Given the description of an element on the screen output the (x, y) to click on. 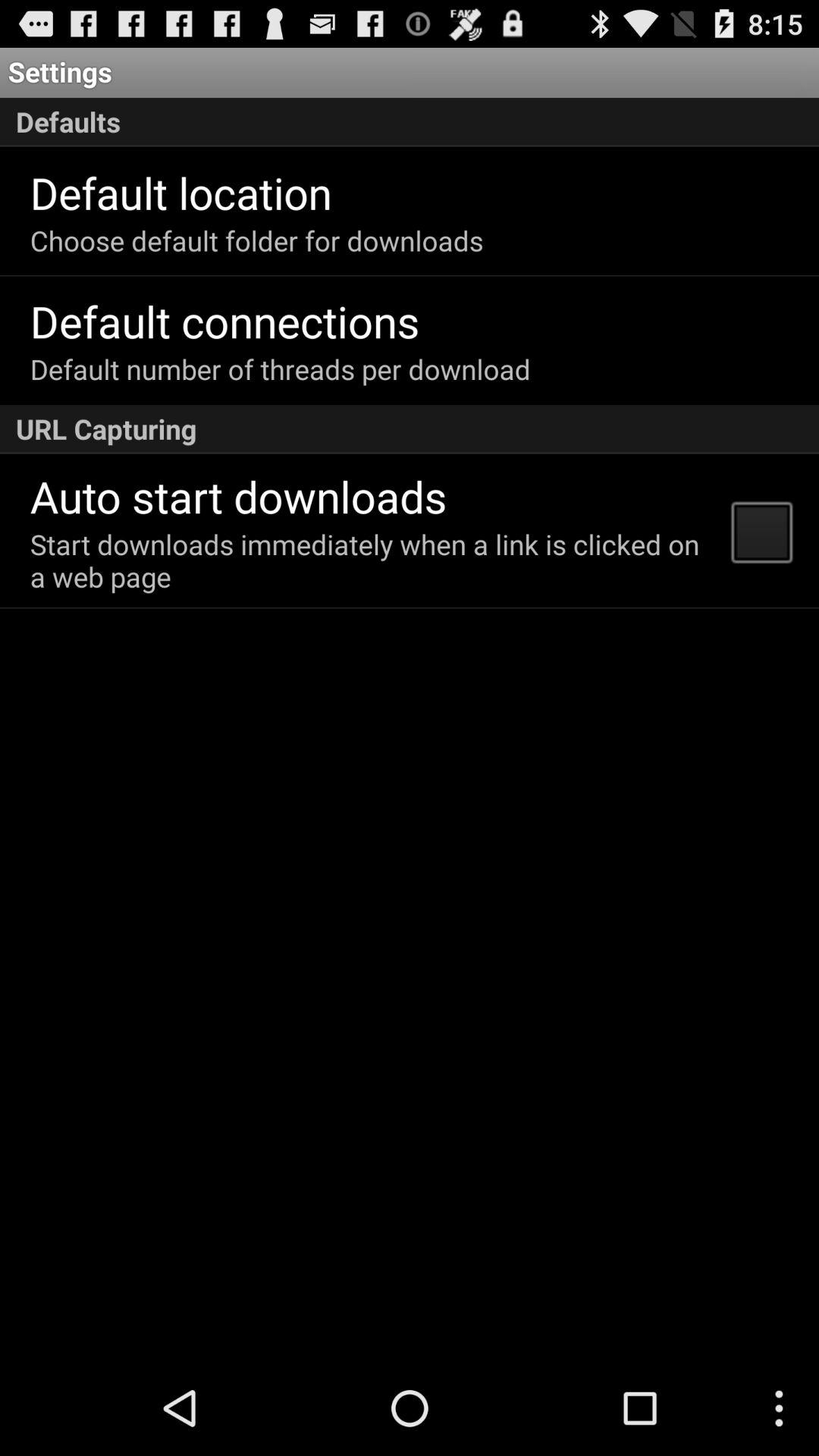
choose app below defaults icon (181, 192)
